Given the description of an element on the screen output the (x, y) to click on. 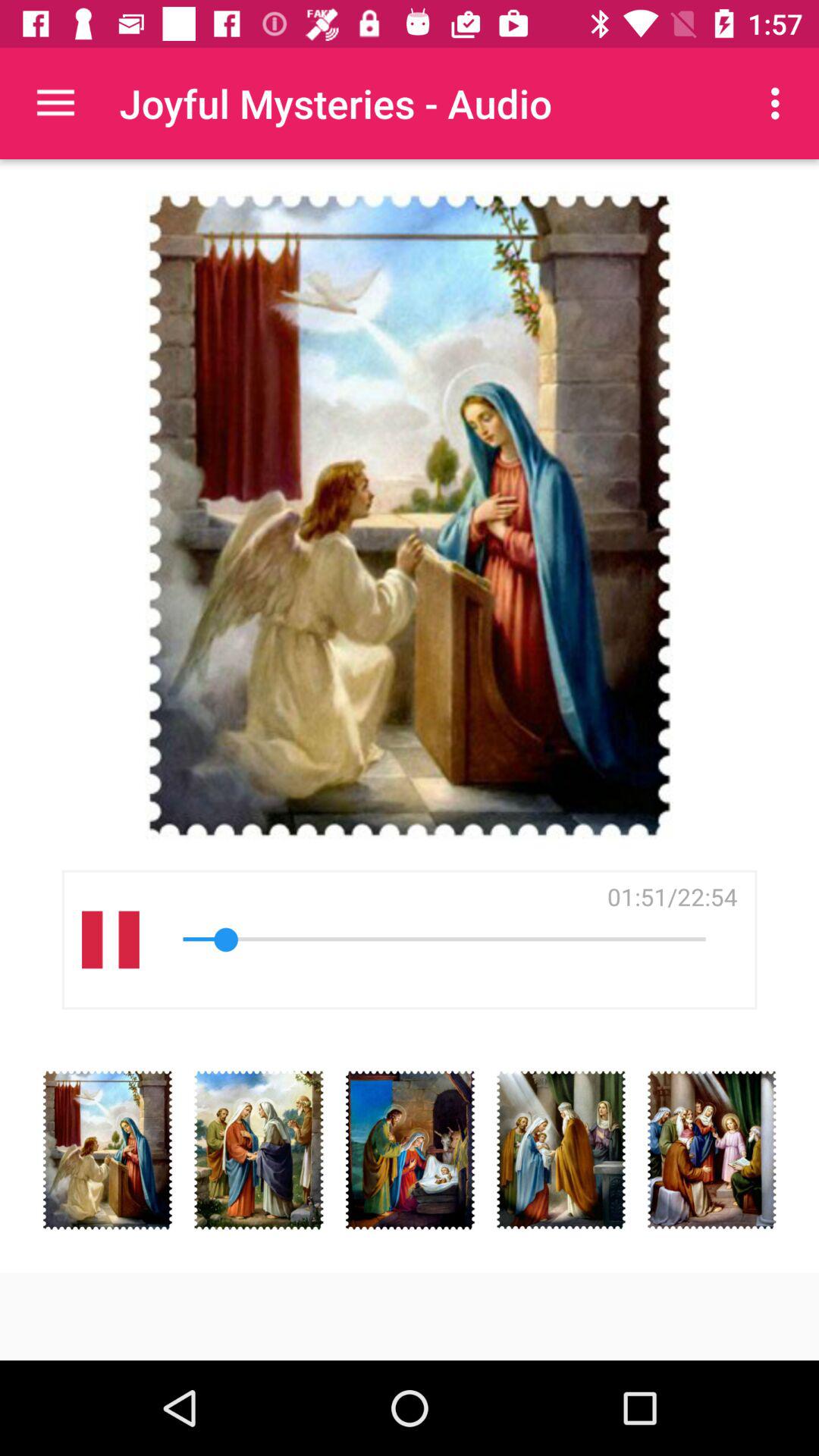
open item at the top right corner (779, 103)
